Given the description of an element on the screen output the (x, y) to click on. 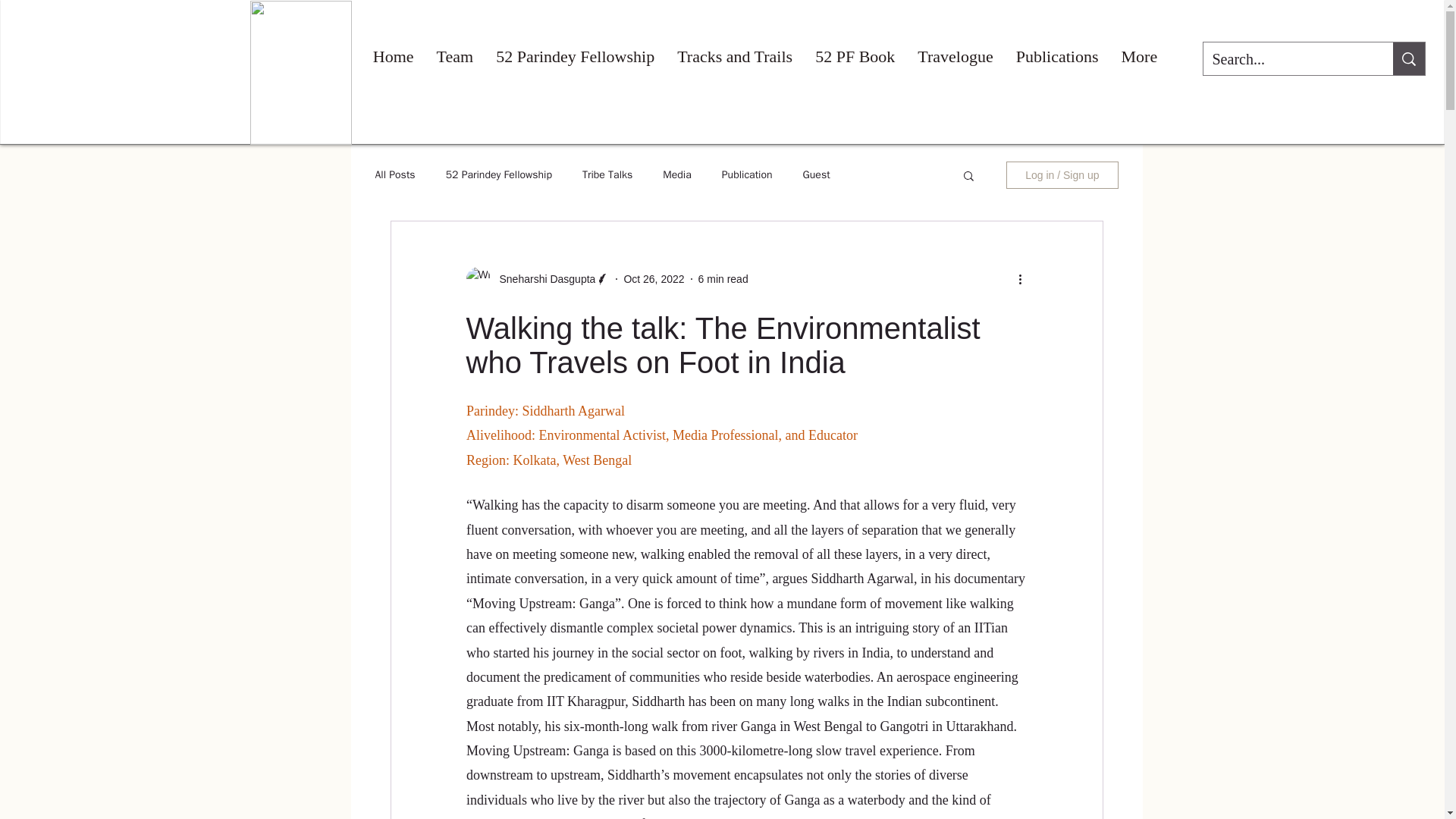
Sneharshi Dasgupta (542, 279)
Oct 26, 2022 (653, 278)
6 min read (723, 278)
Publications (1056, 58)
Guest (816, 174)
Team (454, 58)
Tribe Talks (606, 174)
Publication (747, 174)
52 Parindey Fellowship (498, 174)
TU LOGO - 04.03.2023.png (301, 72)
52 Parindey Fellowship (574, 58)
Media (676, 174)
Home (393, 58)
All Posts (394, 174)
52 PF Book (854, 58)
